Given the description of an element on the screen output the (x, y) to click on. 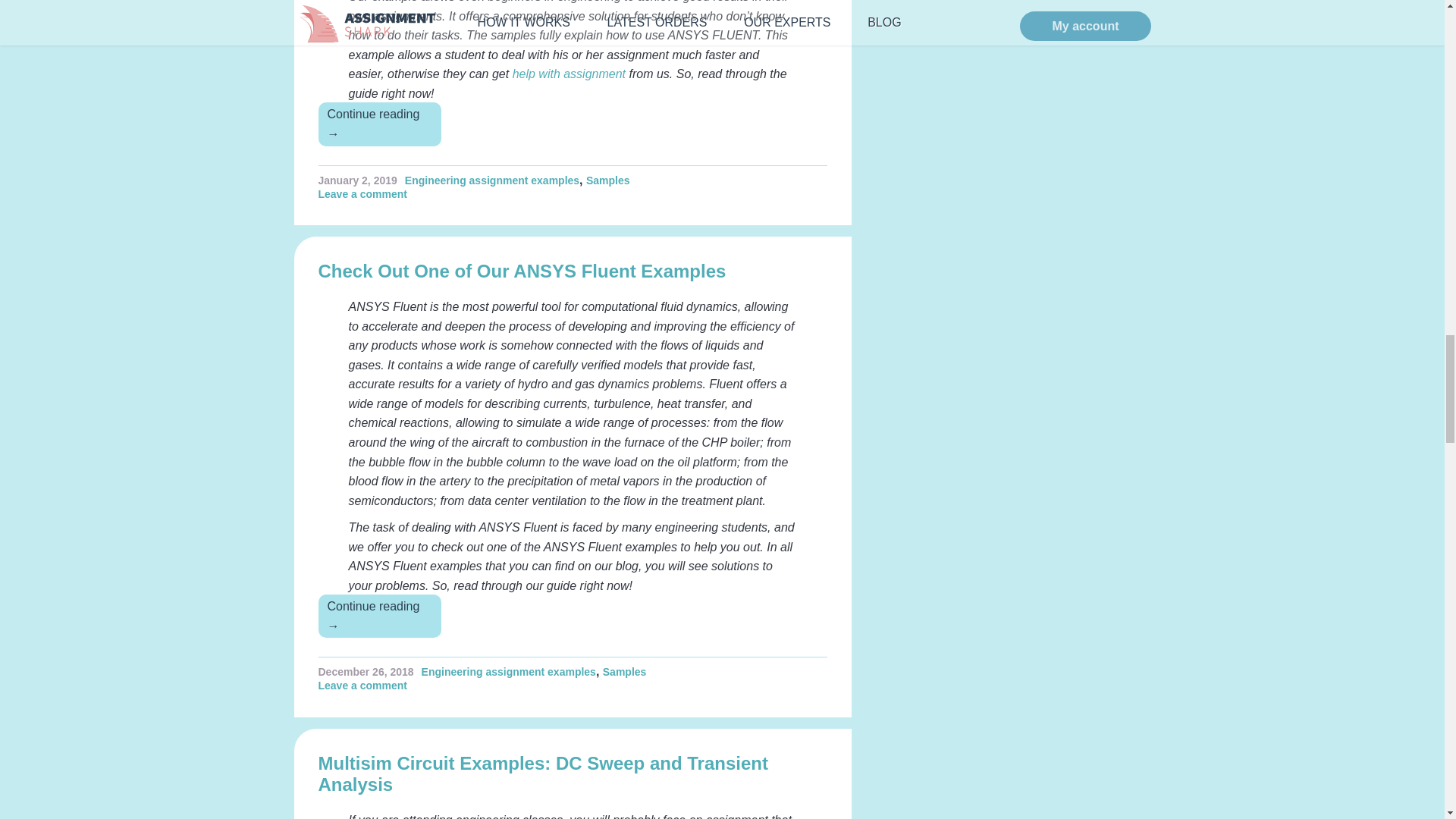
Permalink to Check Out One of Our ANSYS Fluent Examples (365, 671)
Permalink to A Guide on How to Use Ansys Fluent (357, 180)
